Given the description of an element on the screen output the (x, y) to click on. 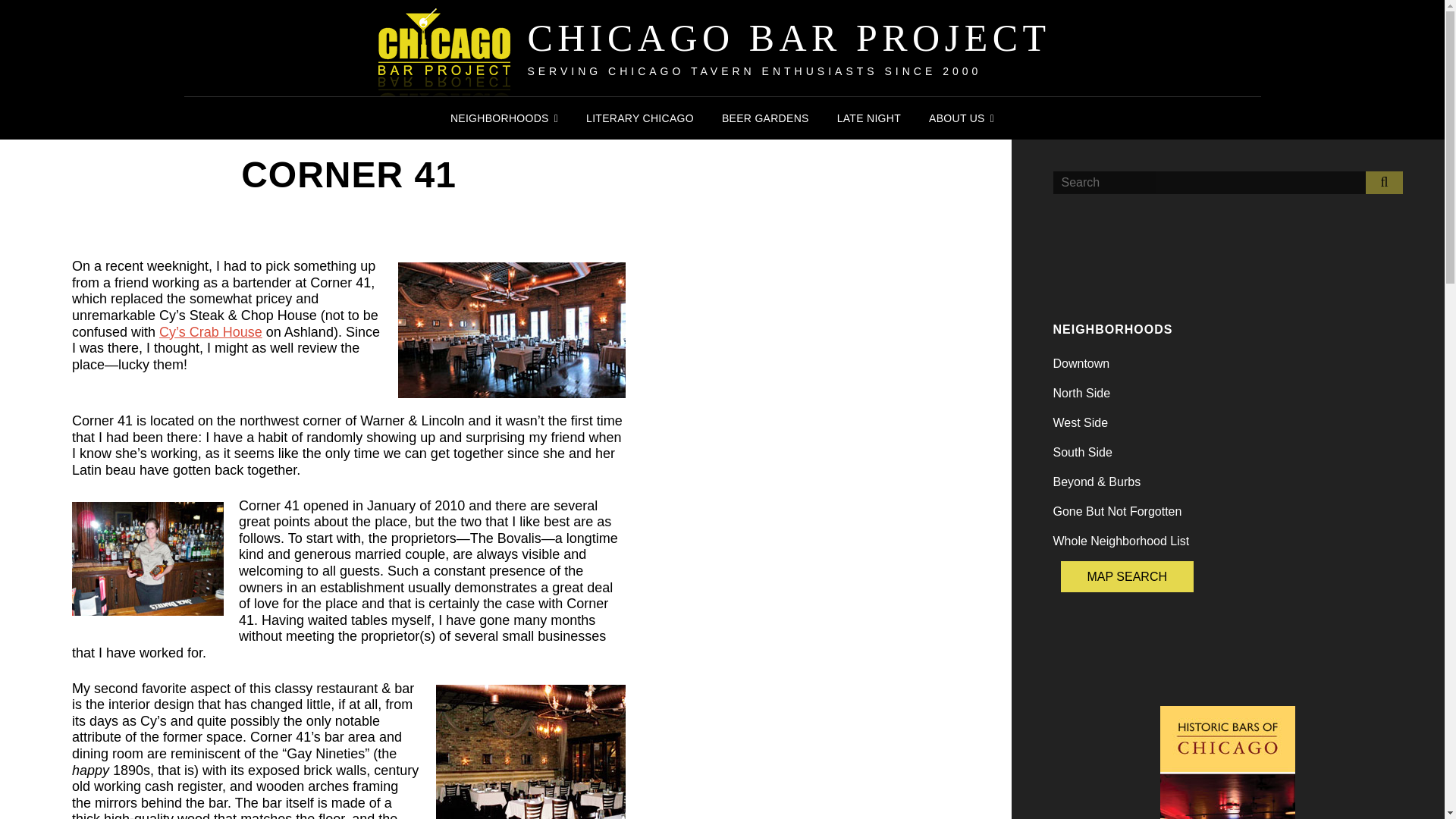
NEIGHBORHOODS (504, 118)
West Side (1080, 422)
Whole Neighborhood List (1120, 540)
ABOUT US (961, 118)
LITERARY CHICAGO (639, 118)
Downtown (1080, 363)
Gone But Not Forgotten (1116, 511)
BEER GARDENS (765, 118)
North Side (1080, 392)
CHICAGO BAR PROJECT (788, 37)
